Given the description of an element on the screen output the (x, y) to click on. 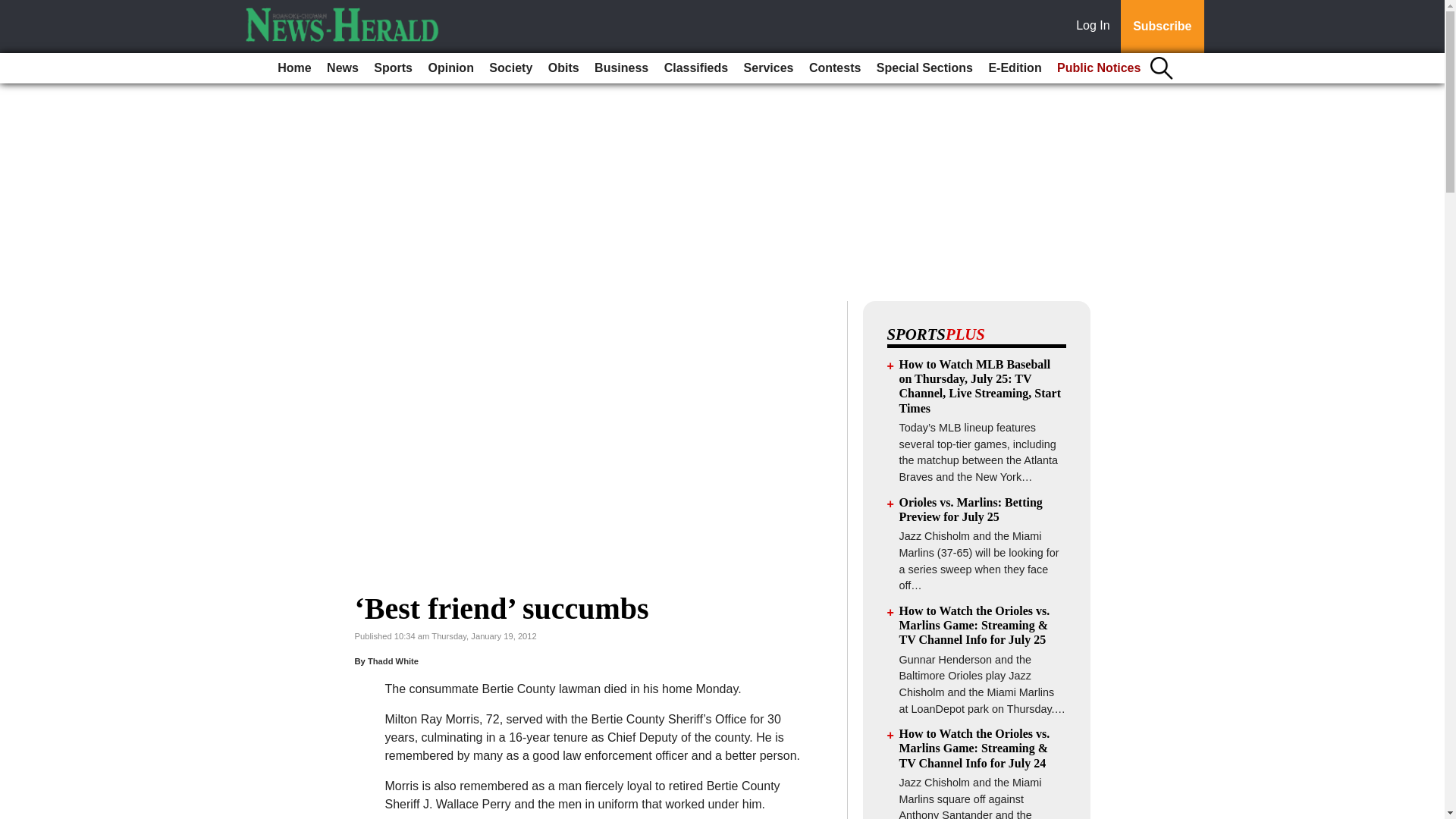
Special Sections (924, 68)
Services (768, 68)
Opinion (450, 68)
Classifieds (695, 68)
News (342, 68)
Sports (393, 68)
Go (13, 9)
Obits (563, 68)
Subscribe (1162, 26)
E-Edition (1013, 68)
Home (293, 68)
Business (620, 68)
Thadd White (393, 660)
Public Notices (1099, 68)
Contests (834, 68)
